Given the description of an element on the screen output the (x, y) to click on. 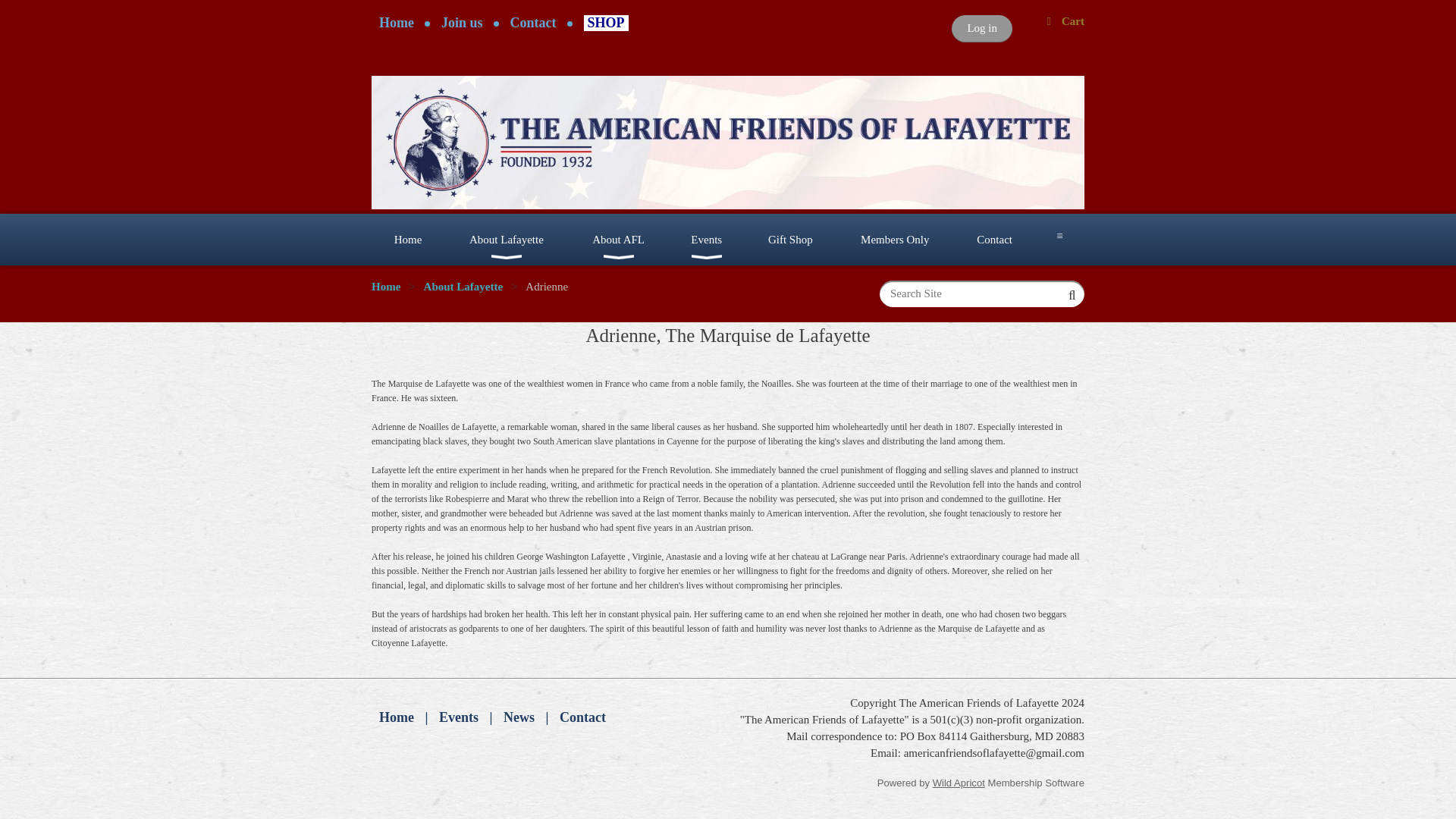
News (518, 717)
Home (407, 239)
Events (706, 239)
Home (395, 23)
About AFL (618, 239)
Gift Shop (789, 239)
SHOP (605, 23)
Home (395, 717)
Contact (533, 23)
SHOP (605, 23)
